Given the description of an element on the screen output the (x, y) to click on. 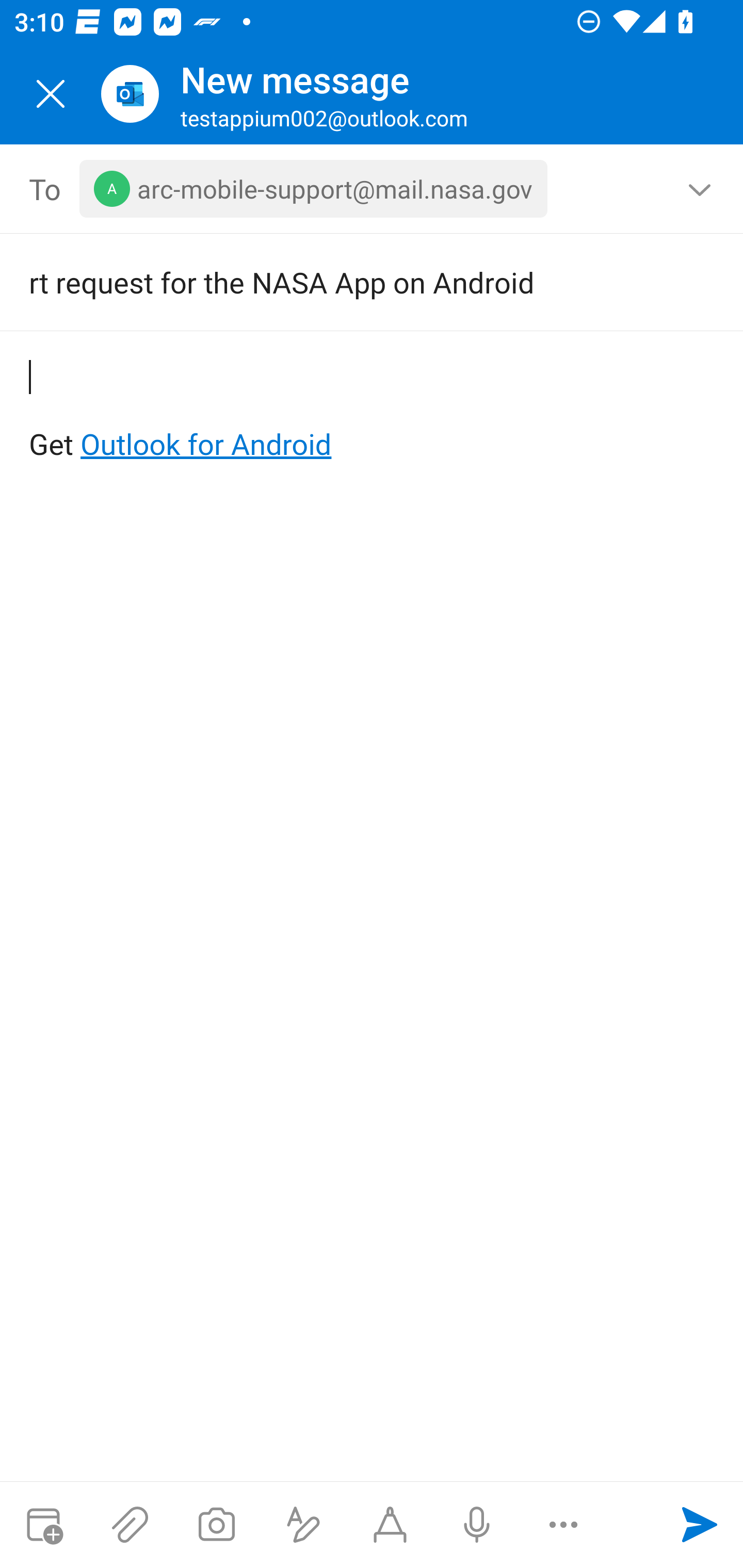
Close (50, 93)
rt request for the NASA App on Android (342, 281)


Get Outlook for Android (372, 411)
Attach meeting (43, 1524)
Attach files (129, 1524)
Take a photo (216, 1524)
Show formatting options (303, 1524)
Start Ink compose (389, 1524)
Dictation (476, 1524)
More options (563, 1524)
Send (699, 1524)
